Given the description of an element on the screen output the (x, y) to click on. 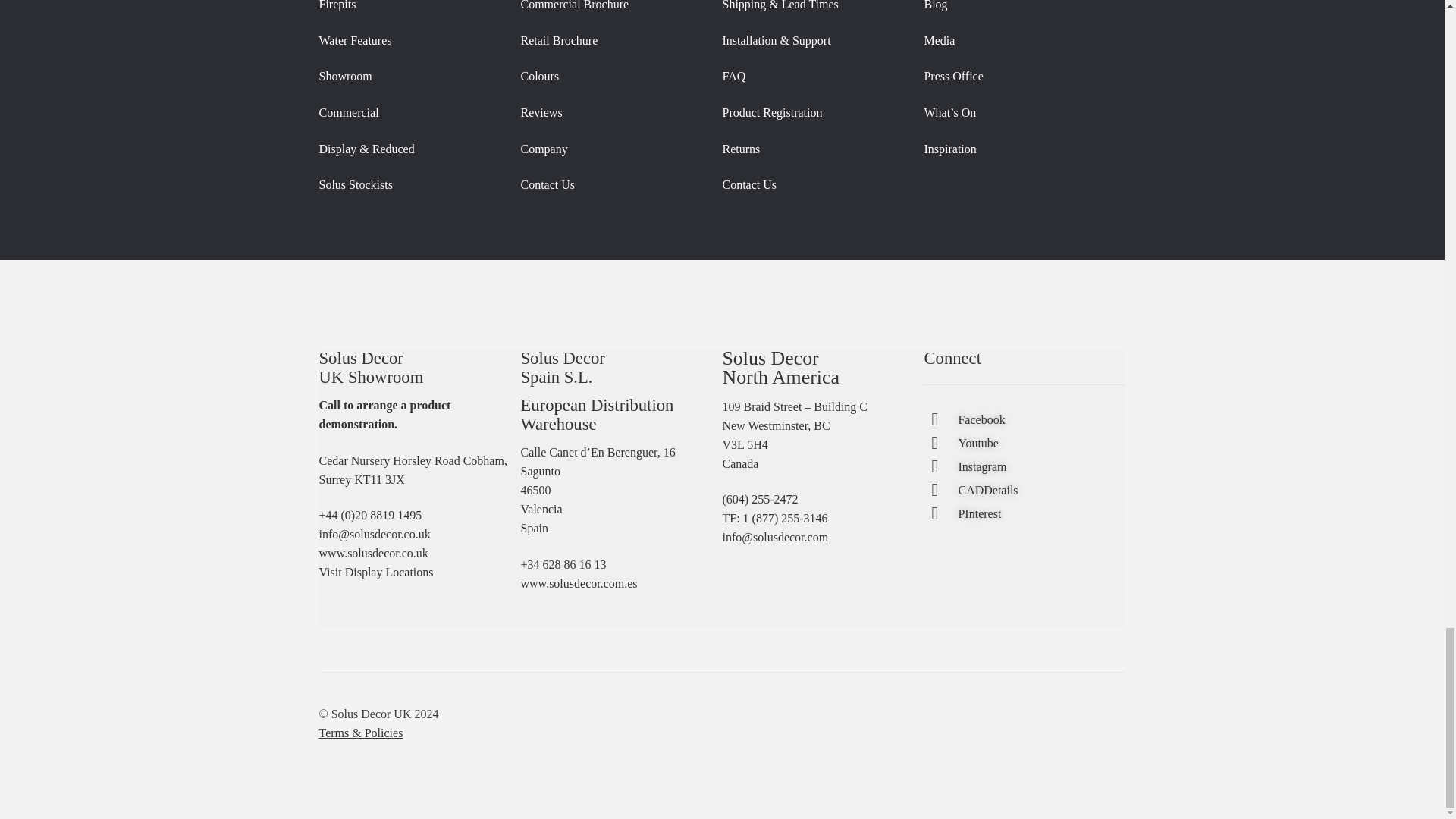
Water Features (354, 40)
Firepits (337, 5)
Commercial (348, 112)
Showroom (345, 75)
